Given the description of an element on the screen output the (x, y) to click on. 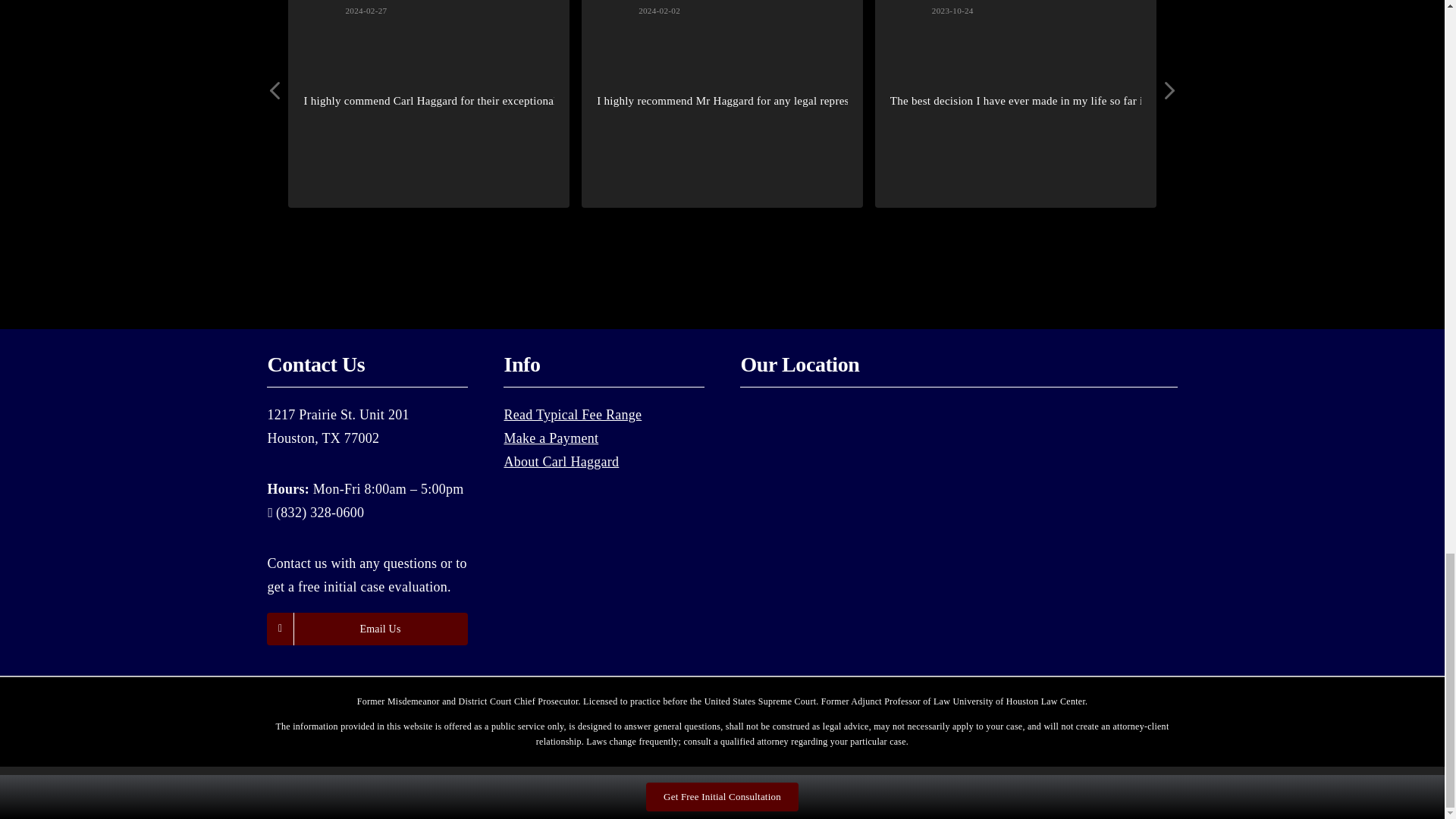
About Carl Haggard (560, 461)
Make a Payment (550, 437)
Read Typical Fee Range (572, 414)
Email Us (366, 628)
